Given the description of an element on the screen output the (x, y) to click on. 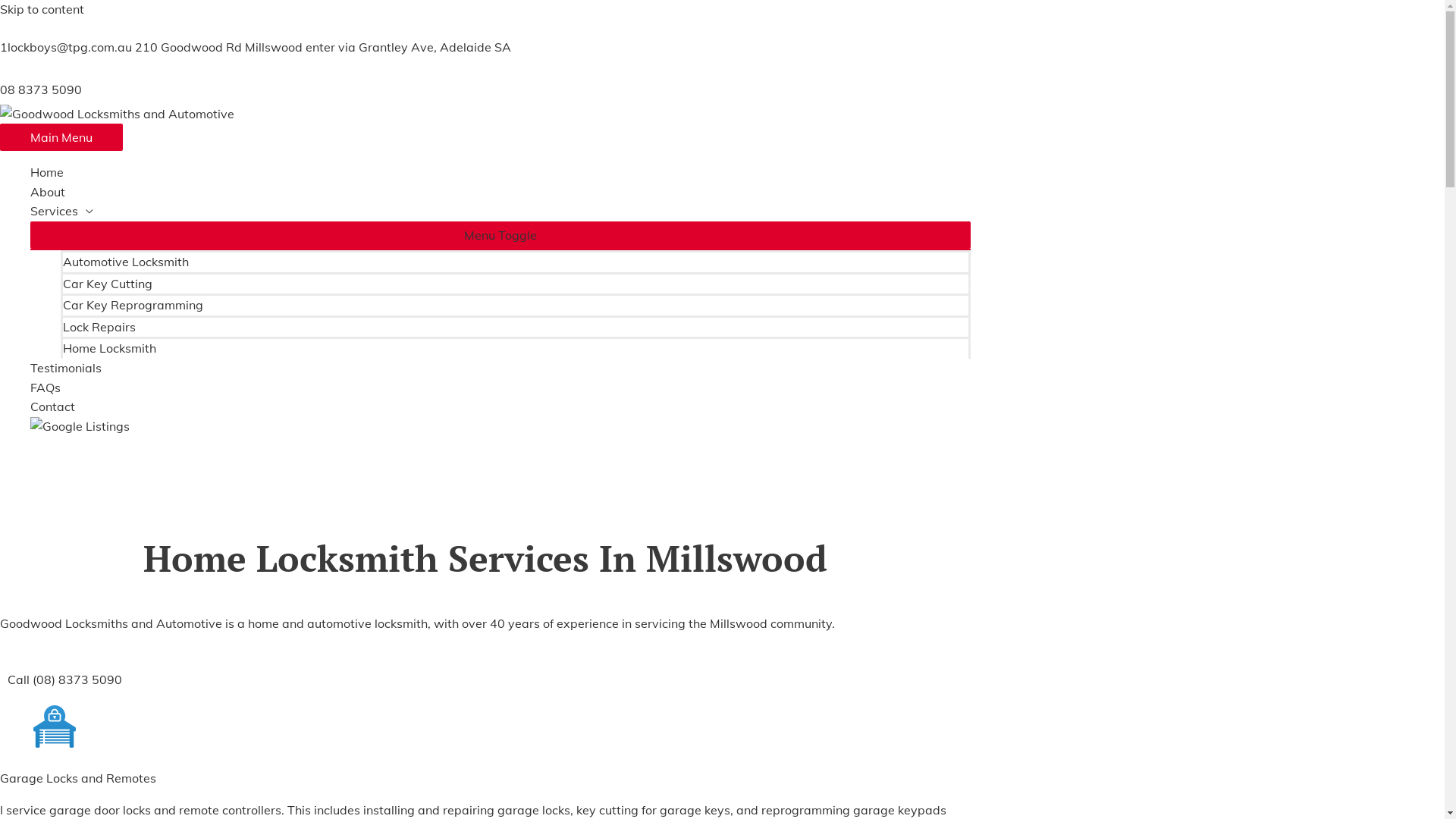
Car Key Cutting Element type: text (515, 283)
Lock Repairs Element type: text (515, 326)
FAQs Element type: text (500, 388)
Testimonials Element type: text (500, 368)
Automotive Locksmith Element type: text (515, 261)
08 8373 5090 Element type: text (40, 89)
Home Element type: text (500, 172)
Services Element type: text (500, 211)
Contact Element type: text (500, 407)
Skip to content Element type: text (42, 8)
Menu Toggle Element type: text (500, 234)
Main Menu Element type: text (61, 136)
Car Key Reprogramming Element type: text (515, 304)
1lockboys@tpg.com.au Element type: text (67, 46)
Call (08) 8373 5090 Element type: text (64, 679)
About Element type: text (500, 192)
Home Locksmith Element type: text (515, 347)
